Given the description of an element on the screen output the (x, y) to click on. 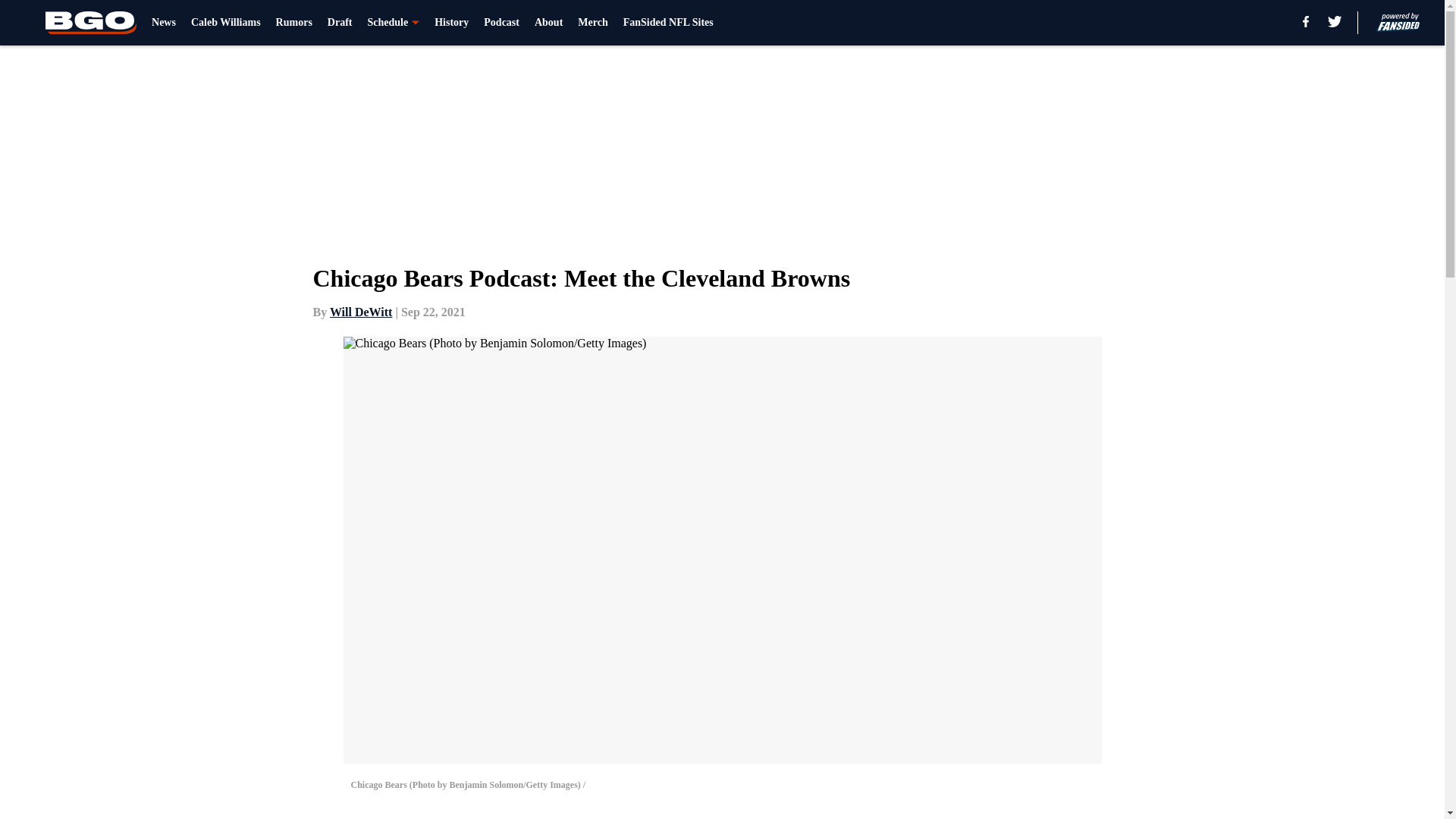
News (163, 22)
Draft (339, 22)
Caleb Williams (225, 22)
Rumors (294, 22)
History (450, 22)
Will DeWitt (361, 311)
Podcast (501, 22)
Merch (592, 22)
About (548, 22)
FanSided NFL Sites (668, 22)
